Given the description of an element on the screen output the (x, y) to click on. 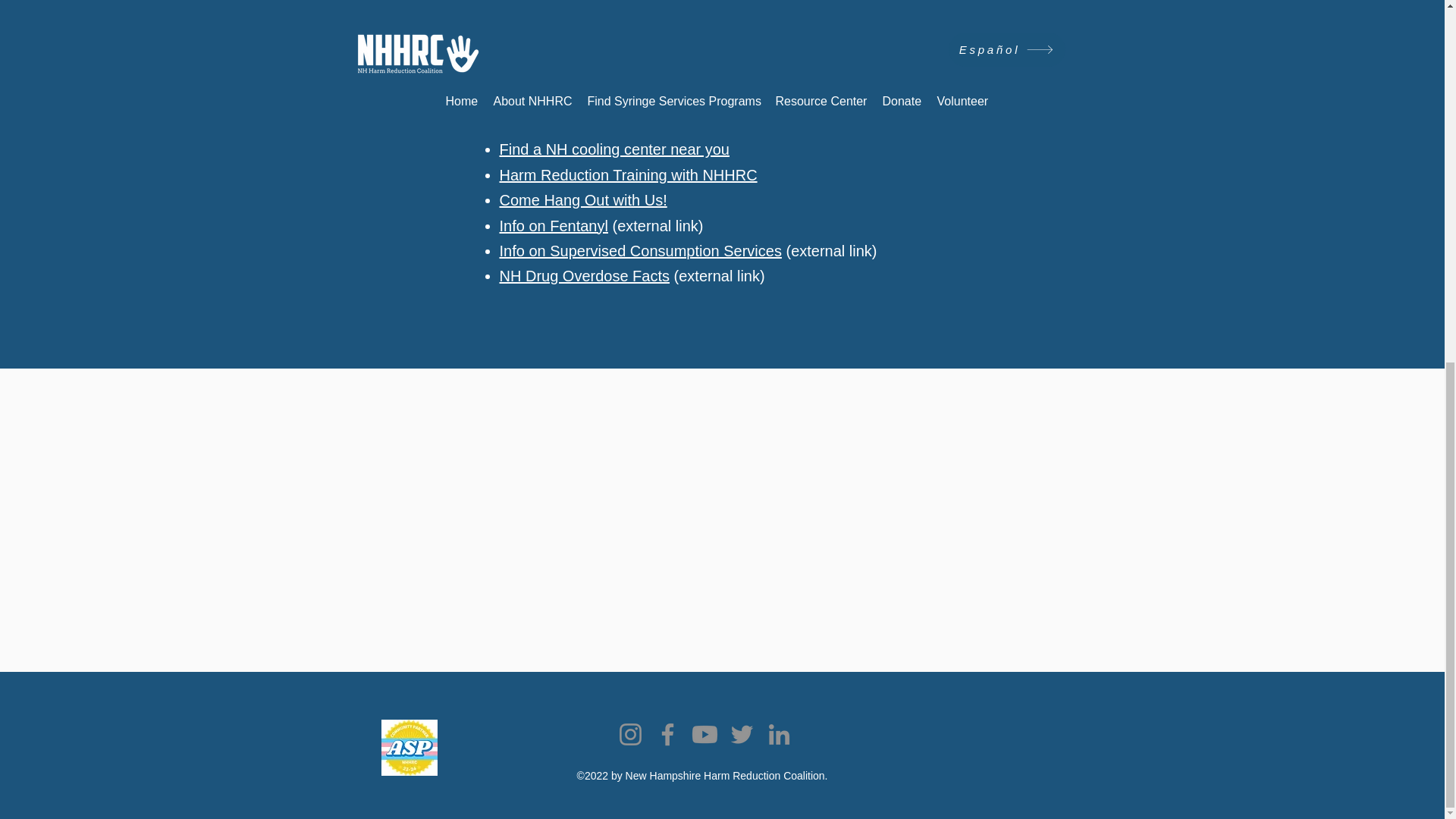
Come Hang Out with Us! (582, 199)
Harm Reduction Training with NHHRC (628, 175)
Find a NH cooling center near you (614, 149)
ASP Digital CP - NHHRC.png (408, 747)
Info on Supervised Consumption Services (639, 250)
Info on Fentanyl (553, 225)
